Given the description of an element on the screen output the (x, y) to click on. 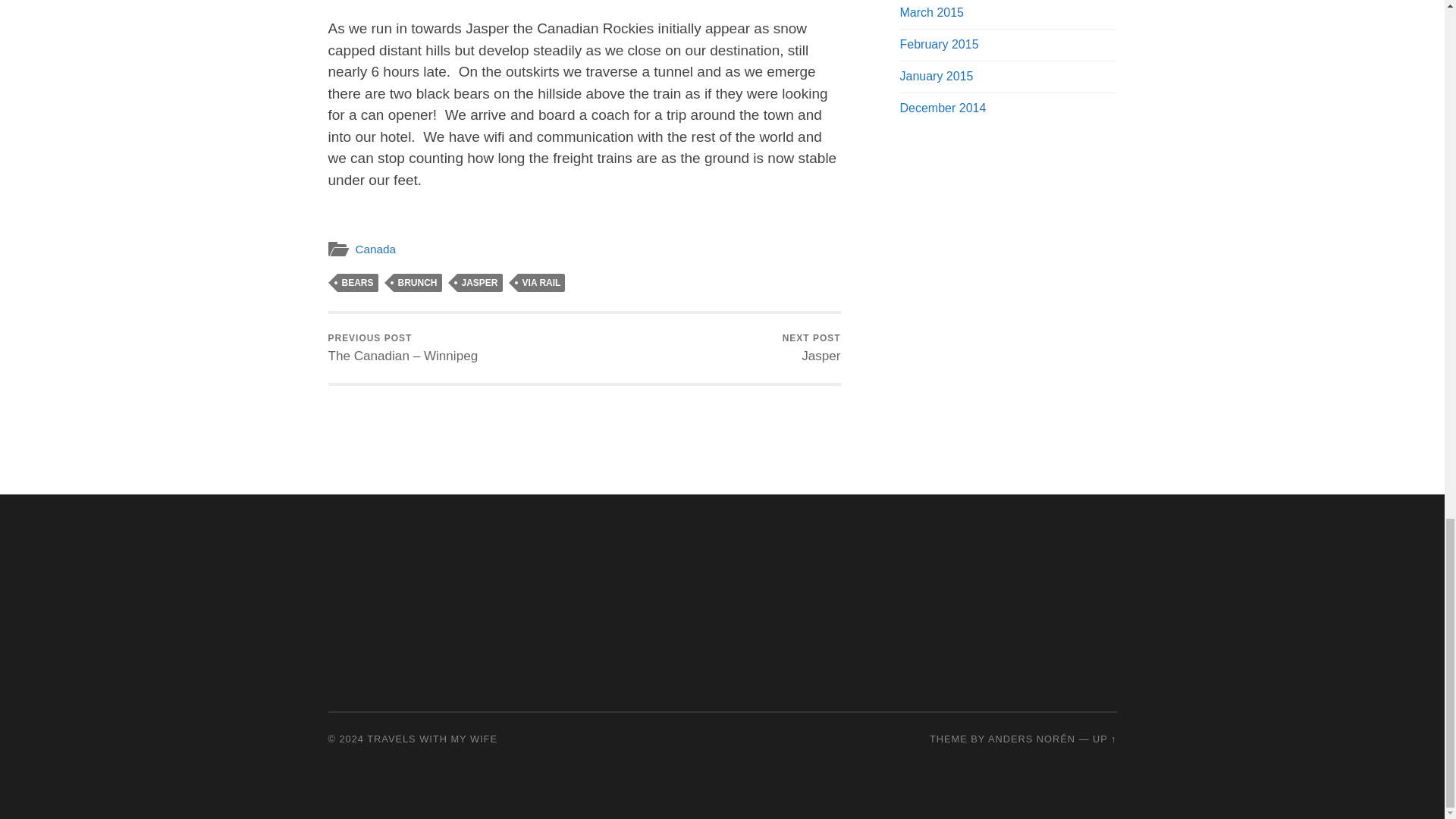
To the top (1104, 738)
VIA RAIL (542, 282)
Canada (375, 248)
BEARS (356, 282)
JASPER (812, 348)
BRUNCH (479, 282)
